Given the description of an element on the screen output the (x, y) to click on. 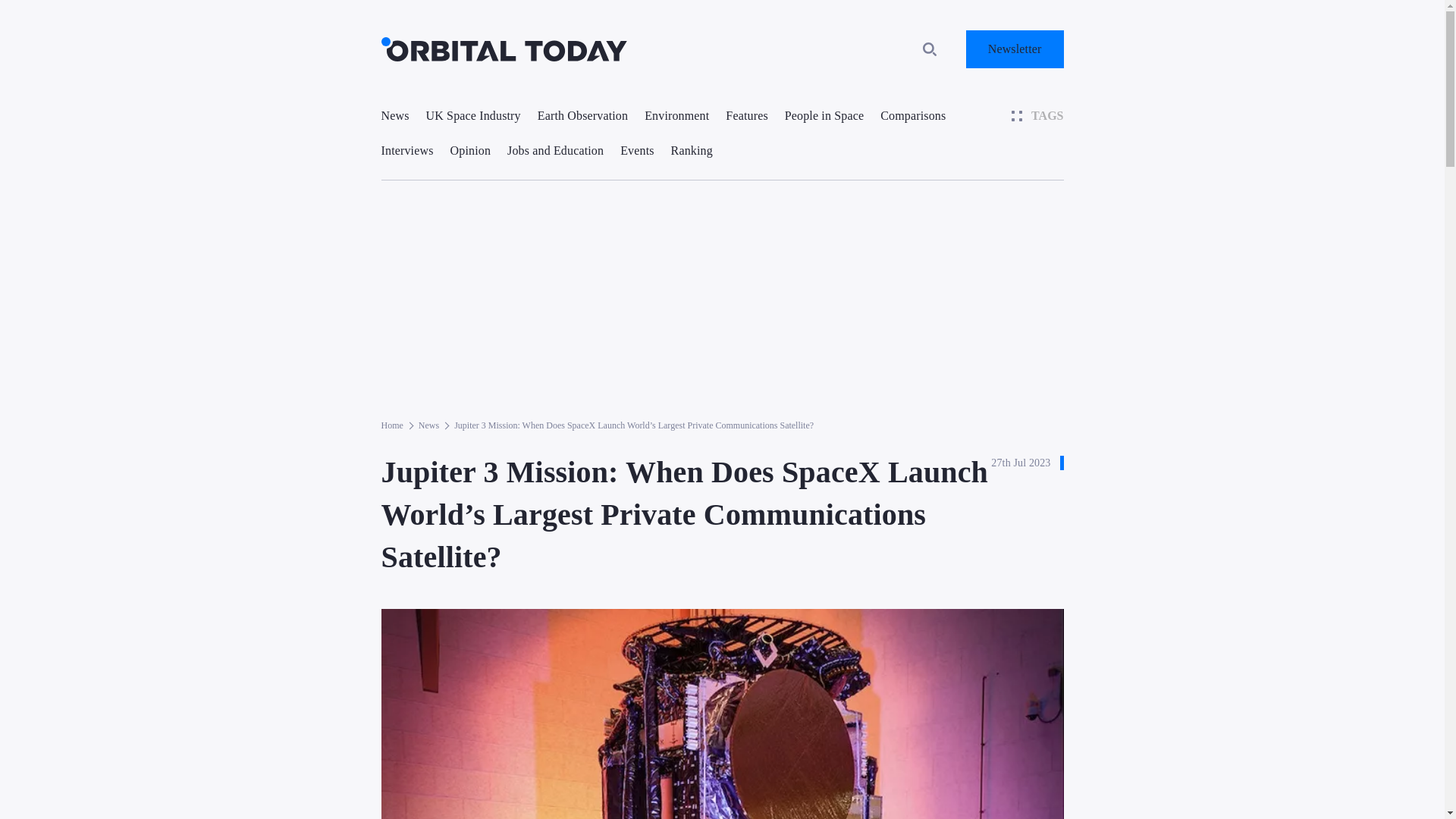
Comparisons (912, 115)
Newsletter (1015, 48)
Ranking (692, 150)
News (394, 115)
Jobs and Education (555, 150)
Interviews (406, 150)
Environment (677, 115)
Opinion (470, 150)
UK Space Industry (473, 115)
People in Space (823, 115)
Features (746, 115)
Events (636, 150)
Earth Observation (582, 115)
TAGS (1036, 115)
